Given the description of an element on the screen output the (x, y) to click on. 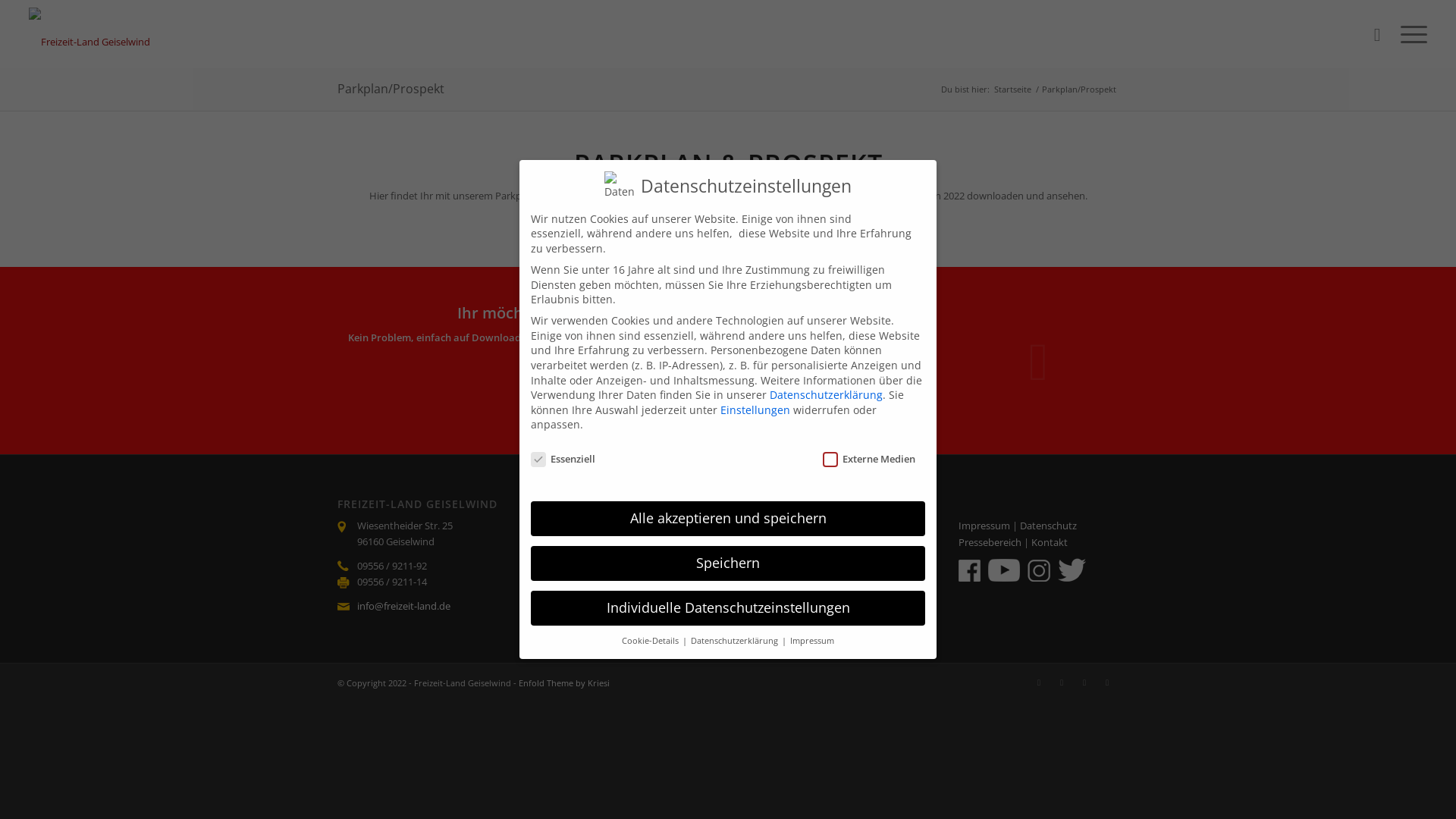
Alle akzeptieren und speichern Element type: text (727, 518)
Events Element type: text (565, 557)
Speichern Element type: text (727, 563)
Individuelle Datenschutzeinstellungen Element type: text (727, 607)
Jobs Element type: text (559, 573)
Parkplan/Prospekt Element type: text (390, 88)
Cookie-Details Element type: text (650, 640)
Pressebereich Element type: text (989, 542)
Kontakt Element type: text (1049, 542)
Instagram Element type: hover (1084, 682)
Themenwelten Element type: text (584, 525)
Impressum Element type: text (812, 640)
Datenschutz Element type: text (1047, 525)
Youtube Element type: hover (1106, 682)
Startseite Element type: text (1012, 88)
Shows Element type: text (565, 542)
Twitter Element type: hover (1038, 682)
Impressum Element type: text (984, 525)
Abenteuerpass Element type: text (791, 573)
Download Element type: text (624, 387)
info@freizeit-land.de Element type: text (403, 605)
Facebook Element type: hover (1061, 682)
Preise Element type: text (770, 542)
Einstellungen Element type: text (755, 409)
Anfahrt Element type: text (774, 557)
Enfold Theme by Kriesi Element type: text (563, 682)
